Given the description of an element on the screen output the (x, y) to click on. 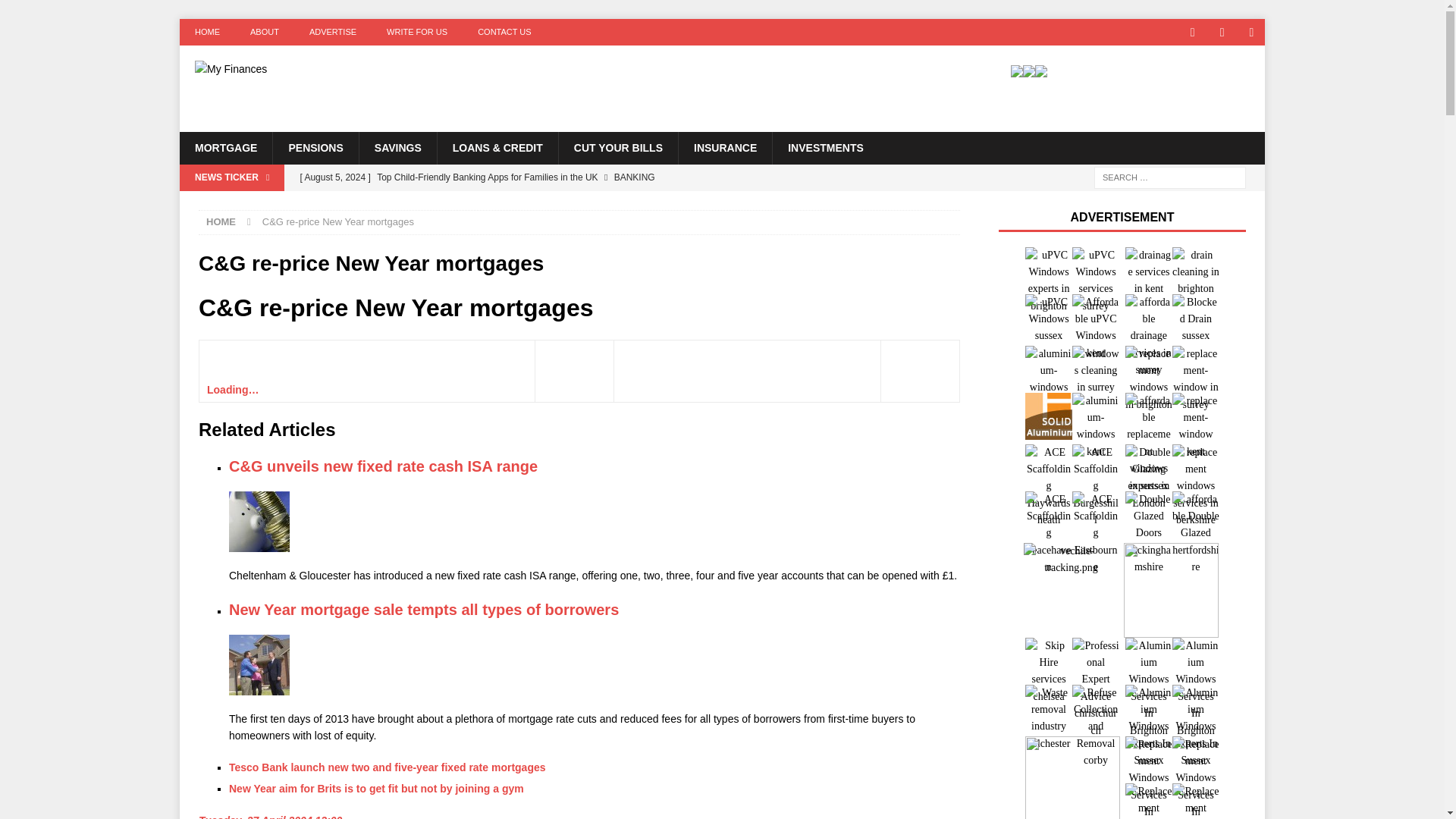
2013 has given optimism for first-time buyers so far (258, 664)
comments (232, 389)
MORTGAGE (225, 147)
New Year mortgage sale tempts all types of borrowers (423, 609)
SAVINGS (397, 147)
PENSIONS (315, 147)
Tesco Bank launch new two and five-year fixed rate mortgages (387, 767)
CUT YOUR BILLS (617, 147)
Top Child-Friendly Banking Apps for Families in the UK (589, 177)
INSURANCE (724, 147)
